Given the description of an element on the screen output the (x, y) to click on. 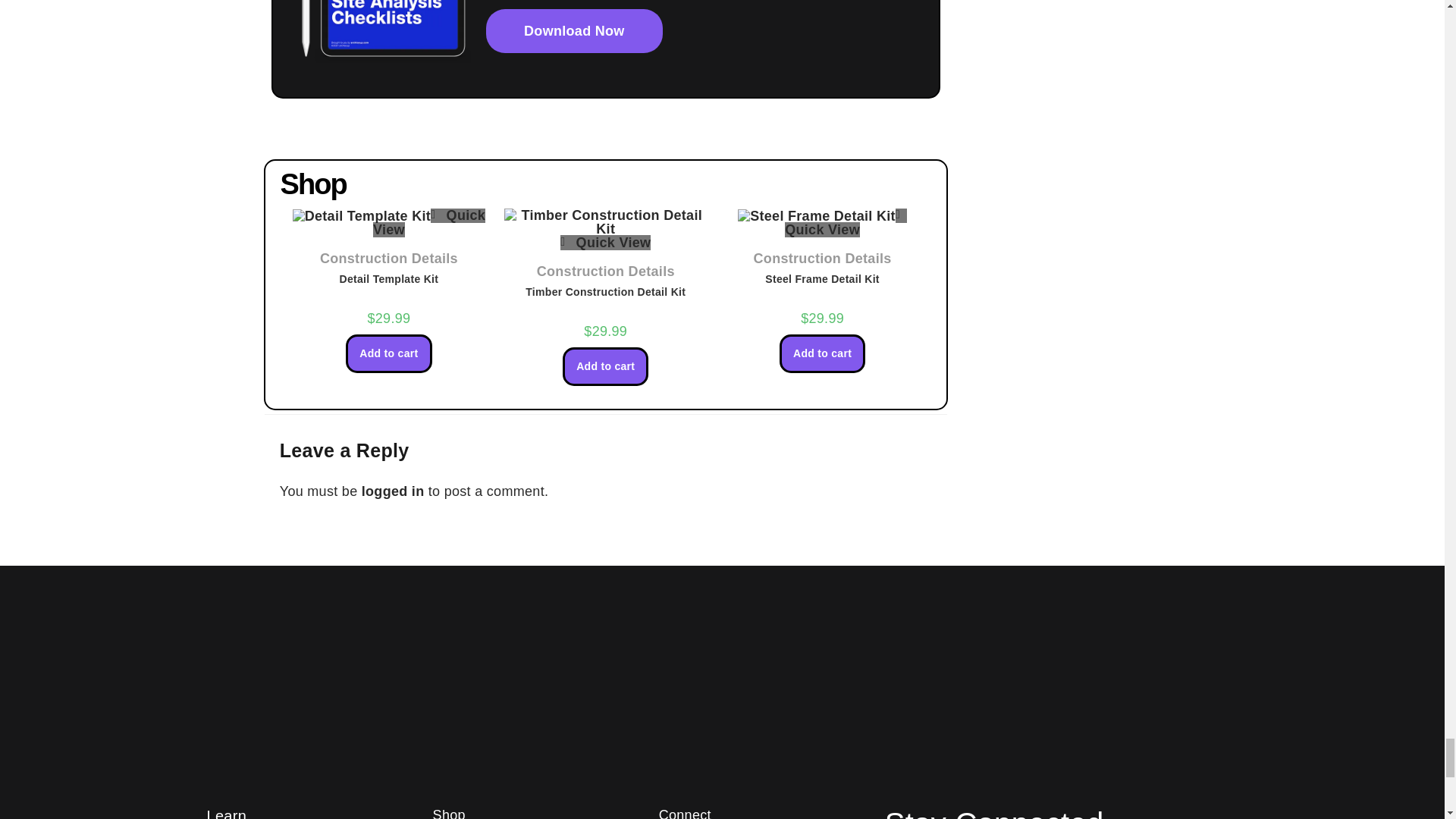
Download Now (574, 31)
Quick View (428, 222)
Detail Template Kit (389, 279)
Add to cart (388, 353)
Add to cart (604, 366)
Construction Details (606, 271)
Construction Details (389, 258)
Quick View (605, 242)
Timber Construction Detail Kit (605, 291)
